Given the description of an element on the screen output the (x, y) to click on. 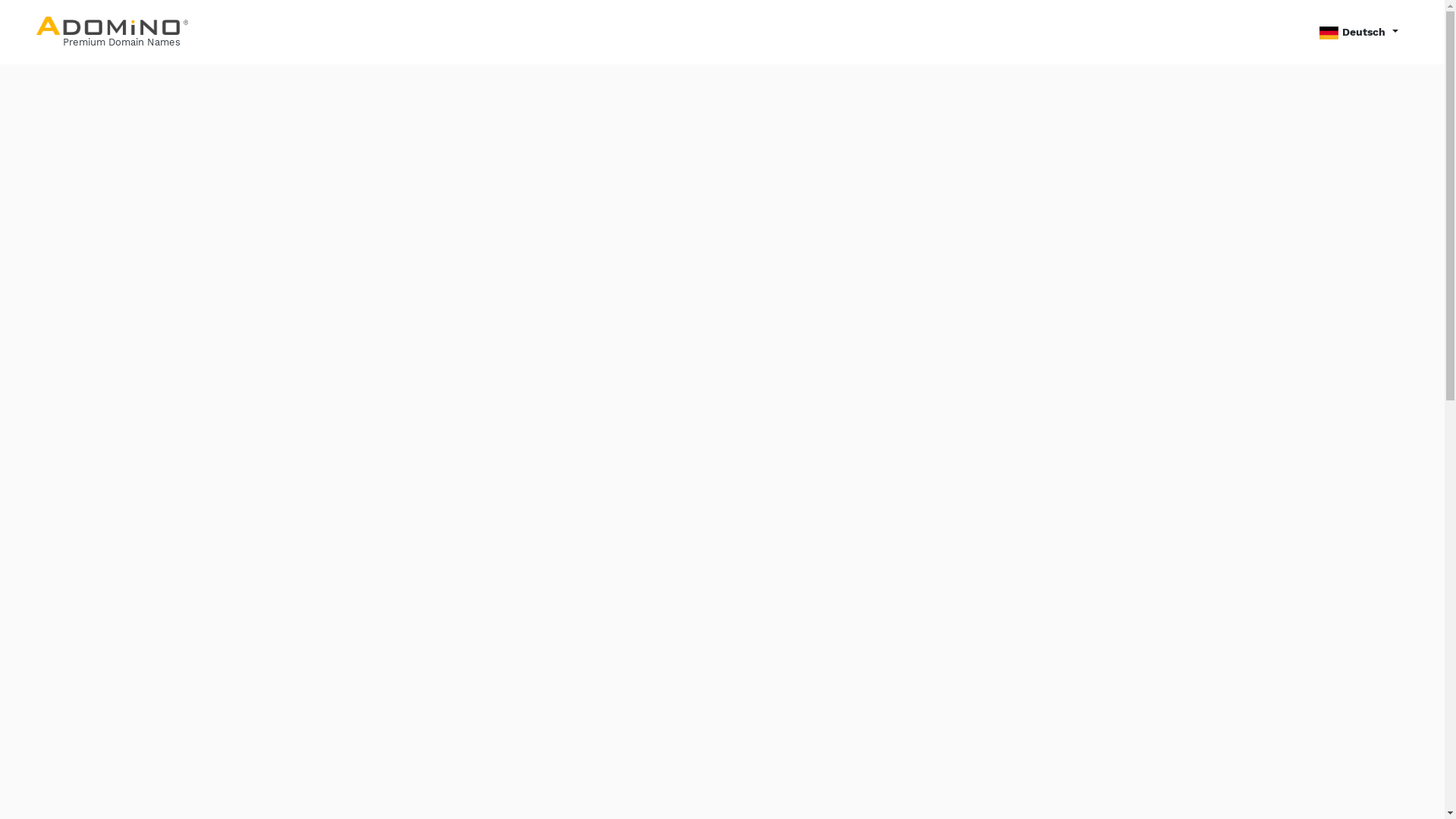
Deutsch Element type: text (1358, 32)
Premium Domain Names Element type: text (112, 31)
